Given the description of an element on the screen output the (x, y) to click on. 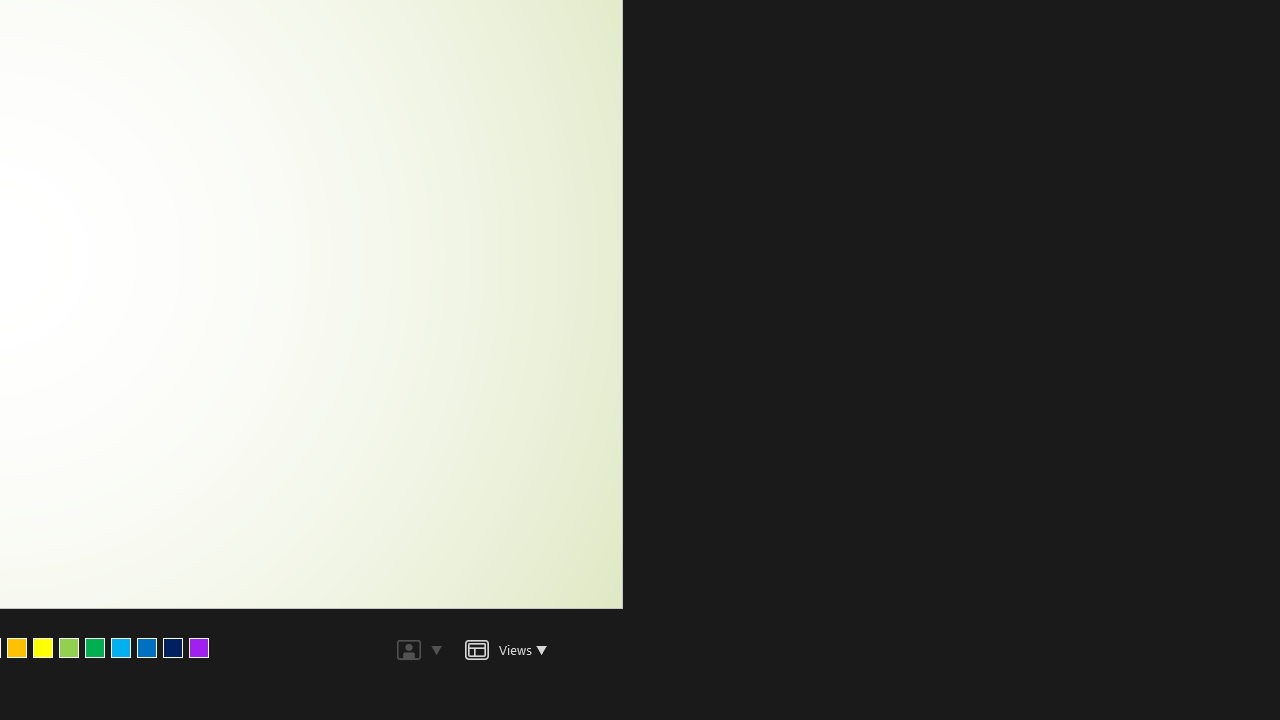
Insert Video (347, 128)
Insert a SmartArt Graphic (419, 92)
